Given the description of an element on the screen output the (x, y) to click on. 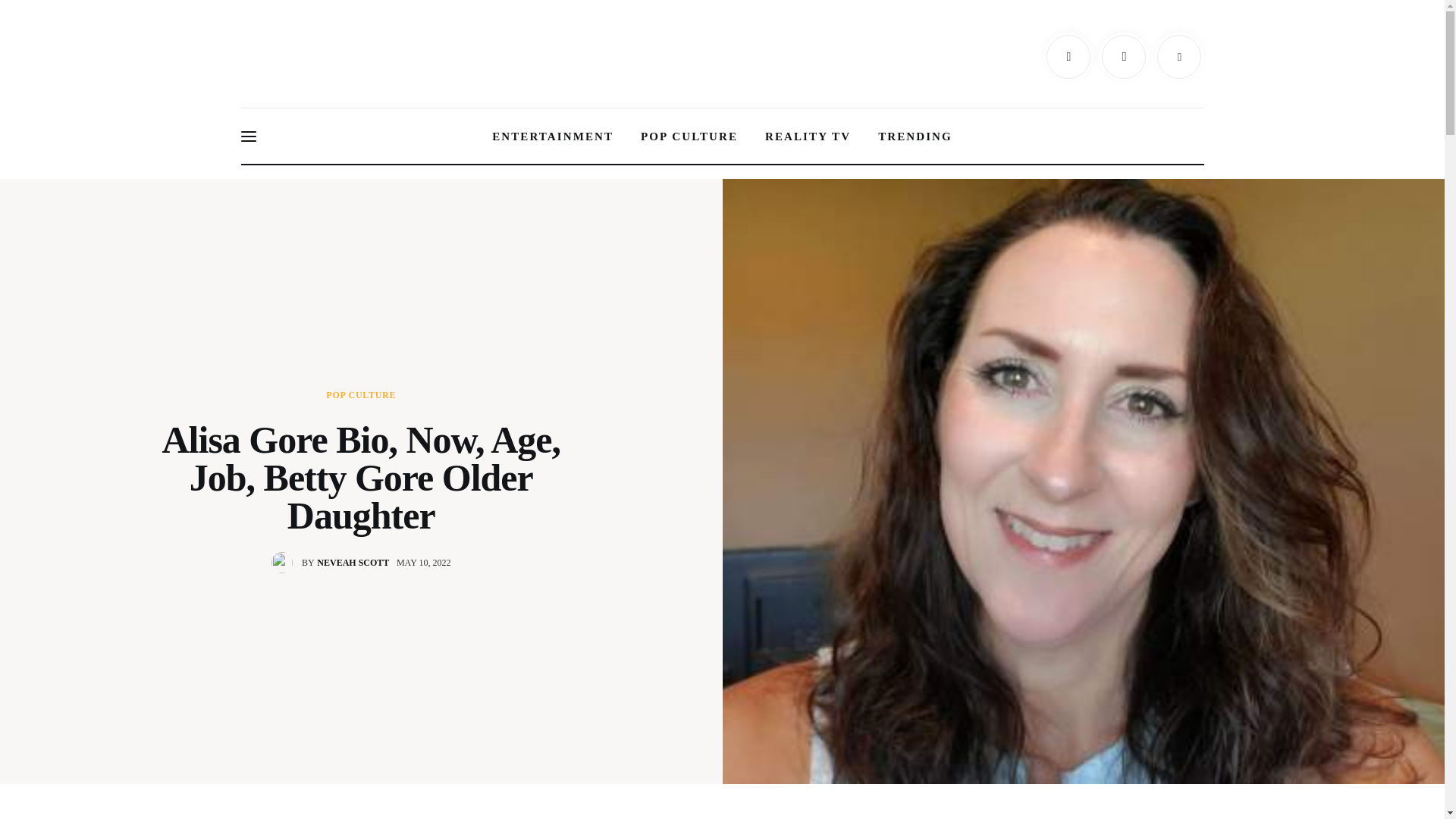
POP CULTURE (689, 137)
REALITY TV (807, 137)
POP CULTURE (361, 394)
ENTERTAINMENT (333, 562)
TRENDING (553, 137)
